Given the description of an element on the screen output the (x, y) to click on. 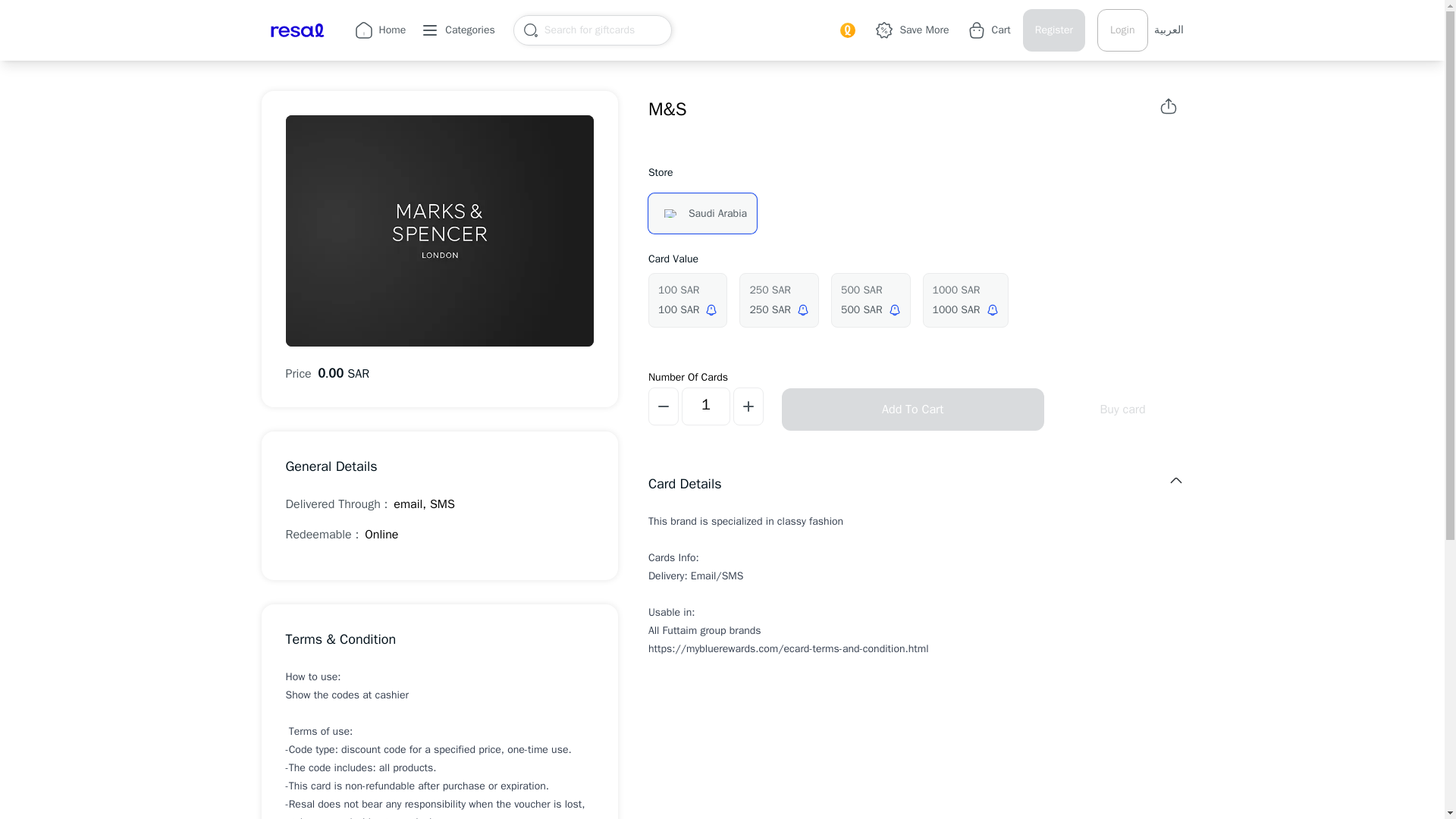
Home (380, 30)
Login (1122, 30)
Register (1053, 30)
Add To Cart (912, 409)
Saudi Arabia (702, 213)
Categories (461, 30)
Buy card (1121, 409)
